Given the description of an element on the screen output the (x, y) to click on. 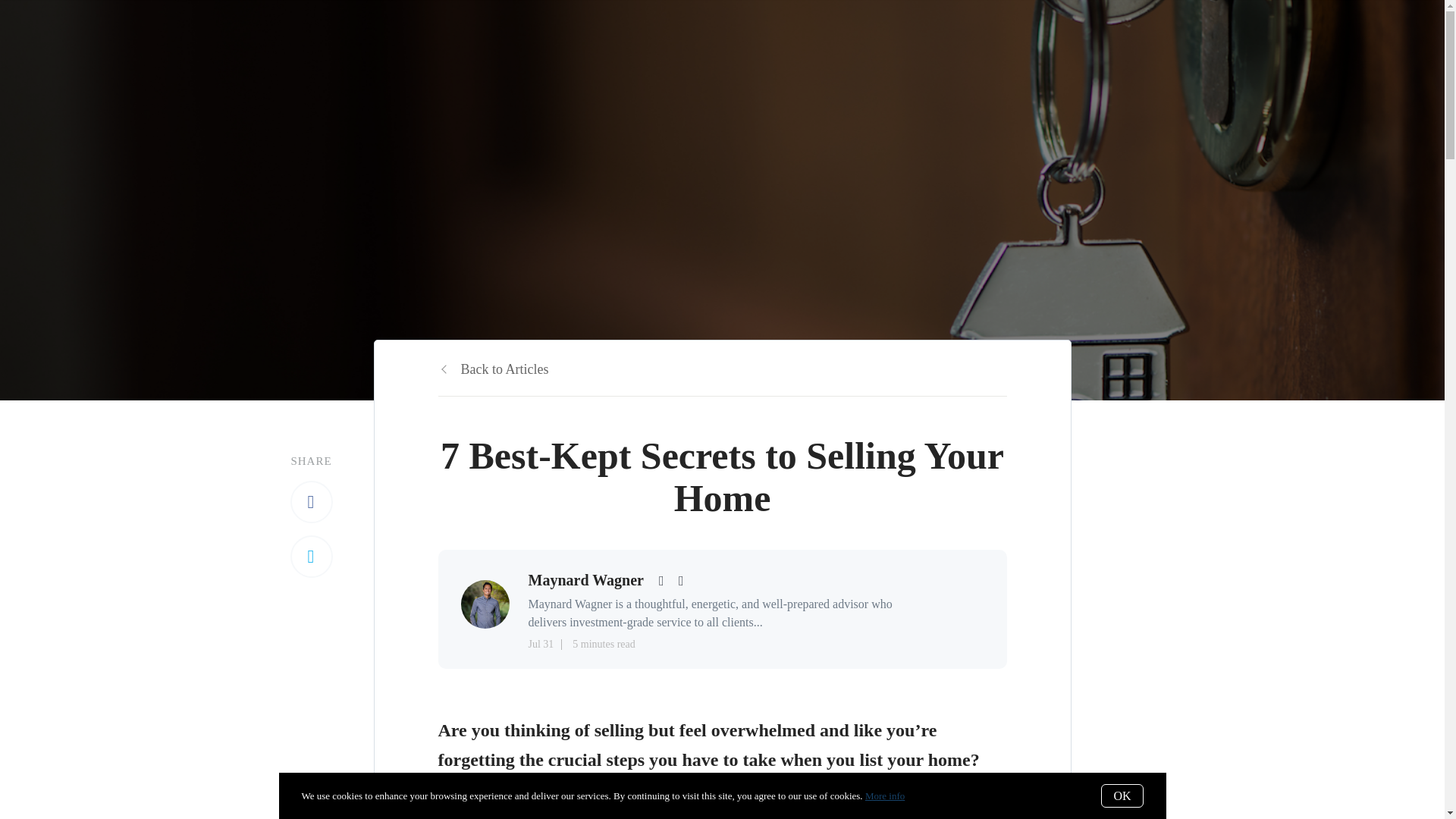
OK (1121, 795)
More info (884, 795)
Back to Articles (493, 368)
